Given the description of an element on the screen output the (x, y) to click on. 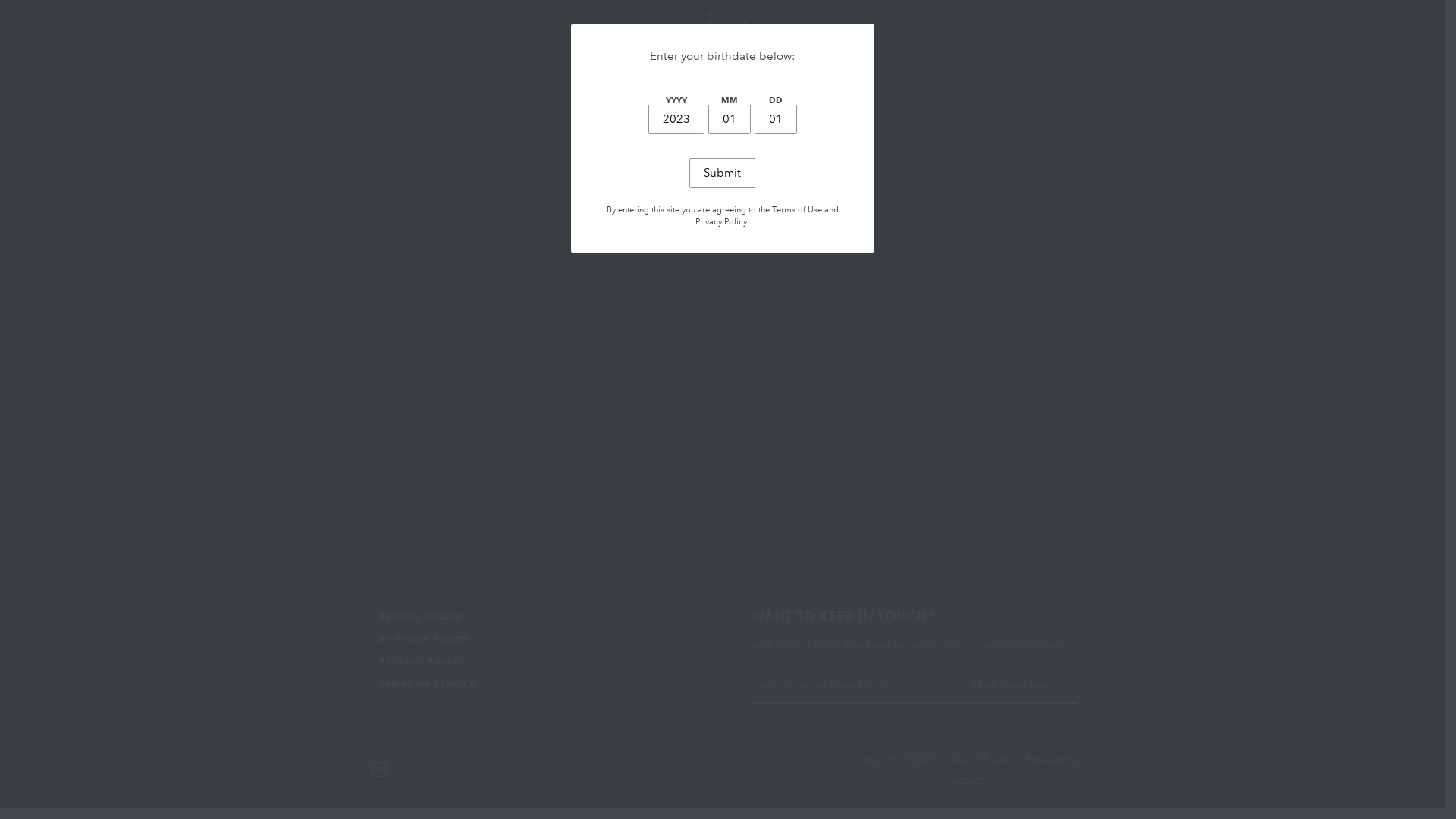
TERMS OF SERVICE Element type: text (427, 683)
A Twist Of Lemon Element type: text (980, 759)
Submit Element type: text (722, 173)
SEND YOUR HINT Element type: text (1021, 685)
MENU Element type: text (390, 30)
Powered by Shopify Element type: text (1014, 769)
Instagram Element type: text (378, 768)
VIEW CART Element type: text (1065, 30)
Skip to content Element type: text (0, 0)
PRIVACY POLICY Element type: text (422, 660)
SHIPPING POLICY Element type: text (424, 638)
REFUND POLICY Element type: text (420, 615)
